Given the description of an element on the screen output the (x, y) to click on. 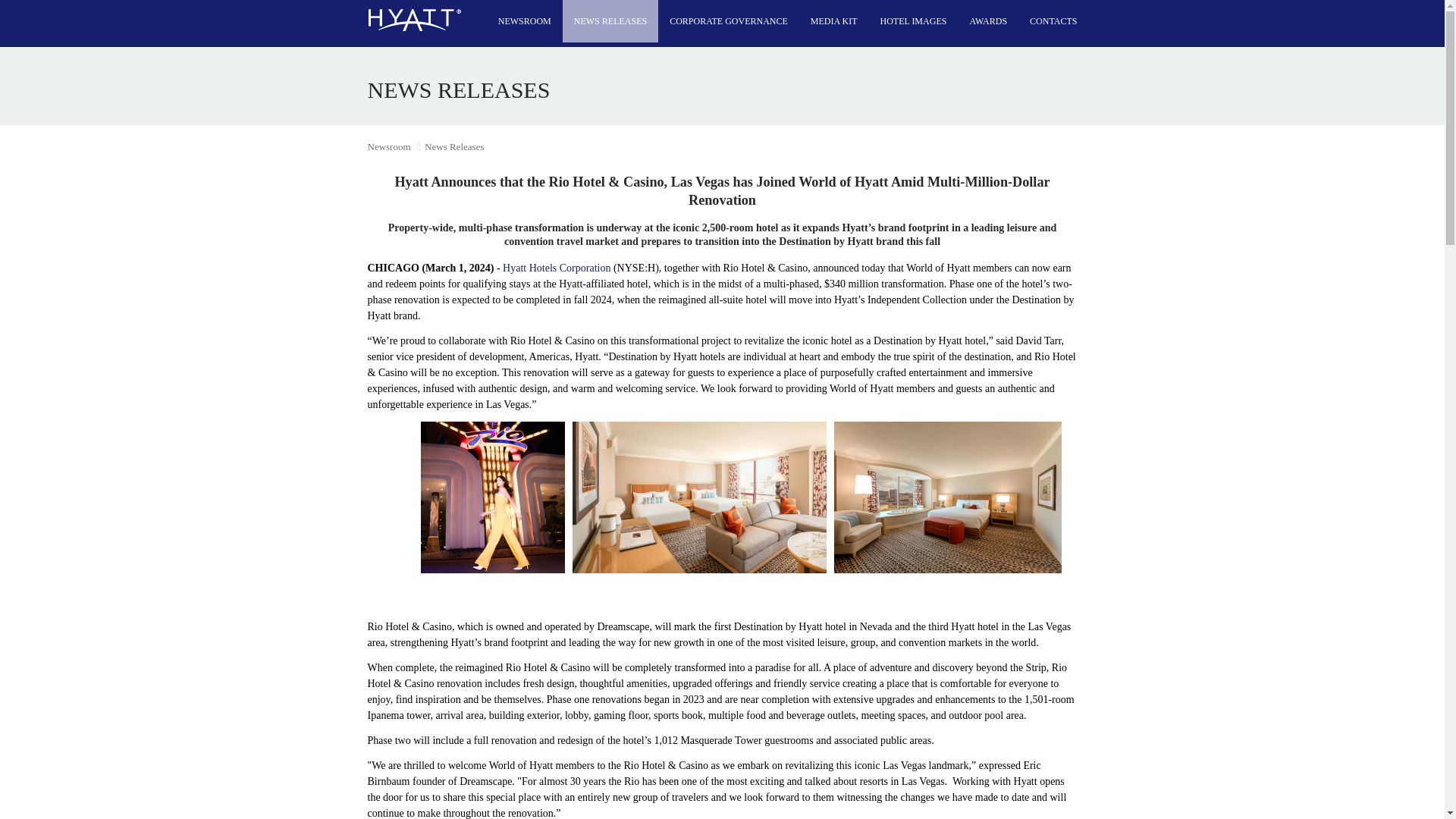
AWARDS (987, 21)
Newsroom (388, 146)
News Releases (454, 146)
NEWSROOM (524, 21)
Hyatt Hotels Corporation  (557, 267)
CORPORATE GOVERNANCE (728, 21)
MEDIA KIT (834, 21)
CONTACTS (1052, 21)
HOTEL IMAGES (913, 21)
NEWS RELEASES (610, 21)
